Given the description of an element on the screen output the (x, y) to click on. 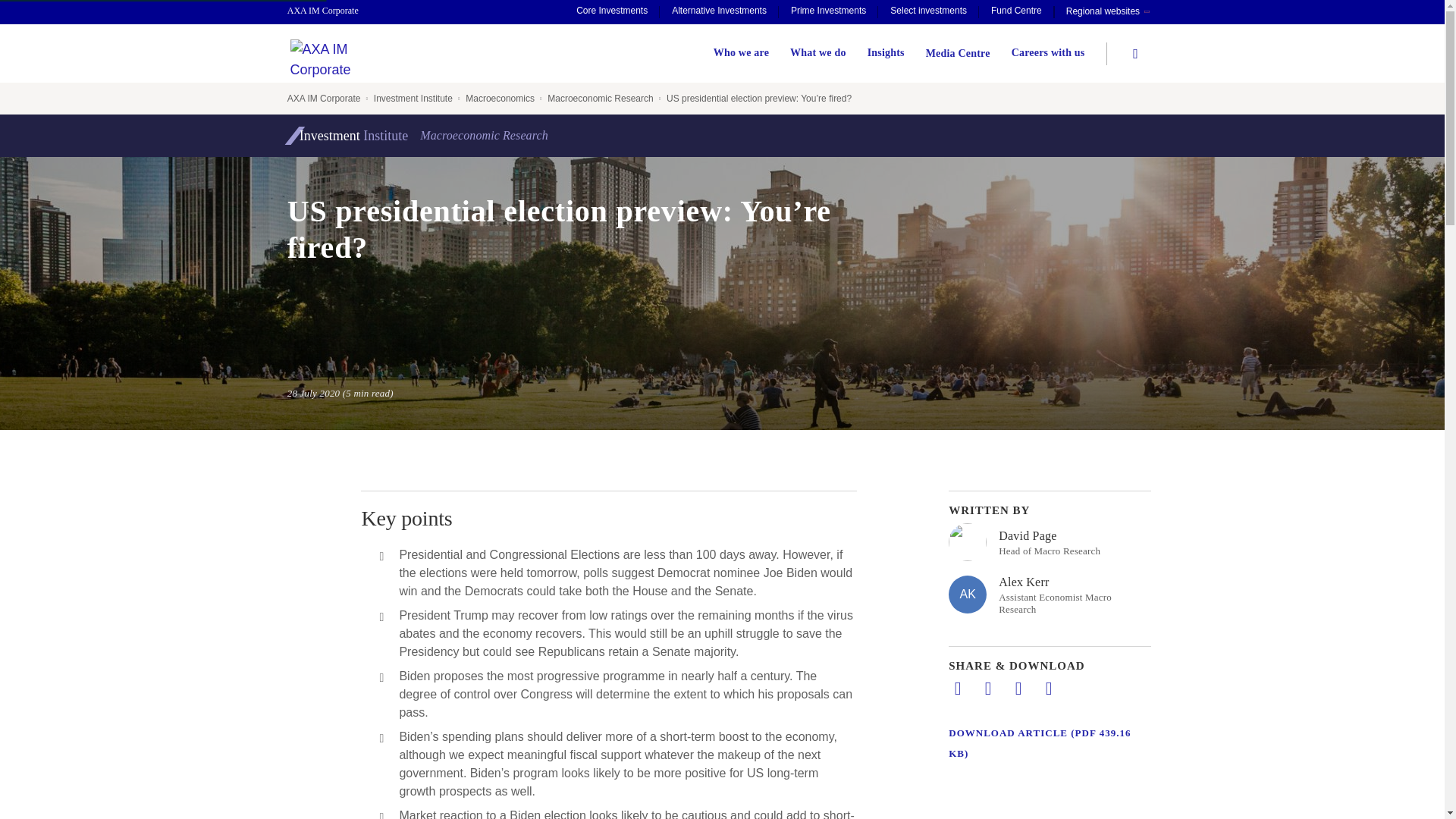
Who we are (740, 53)
Access the Fund Centre (1016, 12)
Visit Core Investments website (611, 12)
Regional websites (1107, 12)
Core Investments (611, 12)
Prime Investments (827, 12)
Select investments (927, 12)
Home (330, 10)
Alternative Investments (718, 12)
Regional websites (1107, 12)
